Given the description of an element on the screen output the (x, y) to click on. 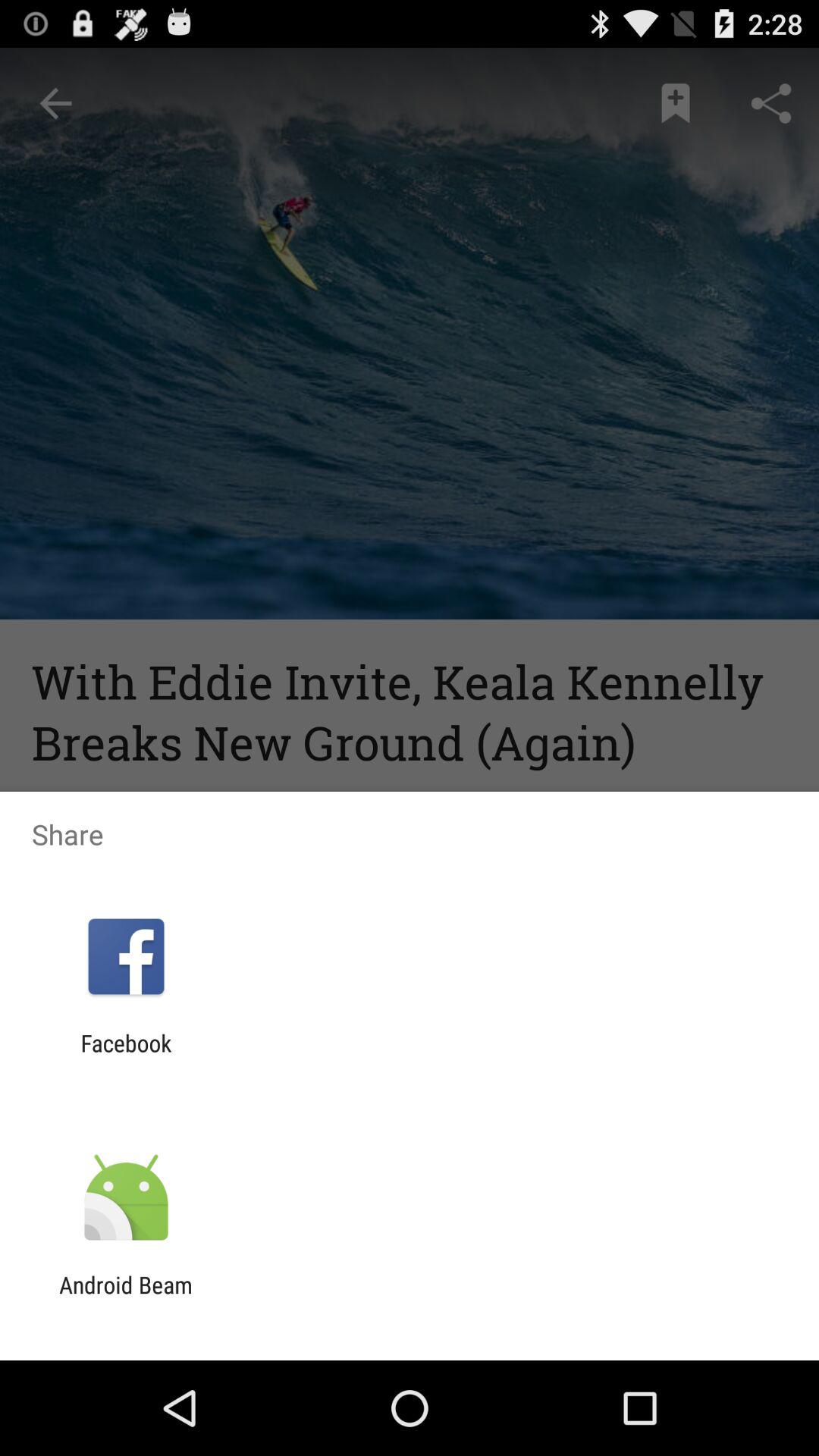
click the android beam app (125, 1298)
